Given the description of an element on the screen output the (x, y) to click on. 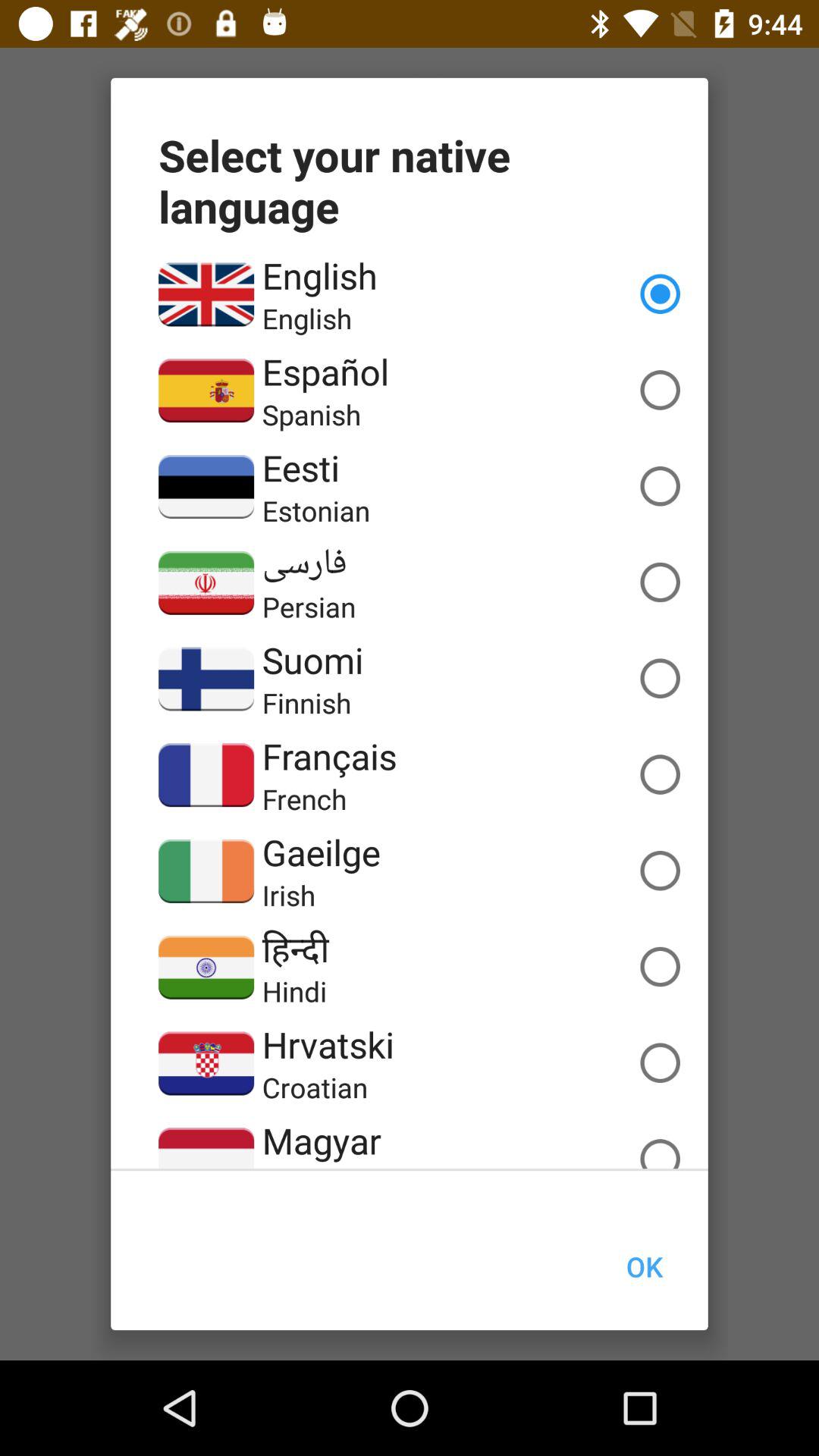
jump until the croatian (314, 1087)
